Given the description of an element on the screen output the (x, y) to click on. 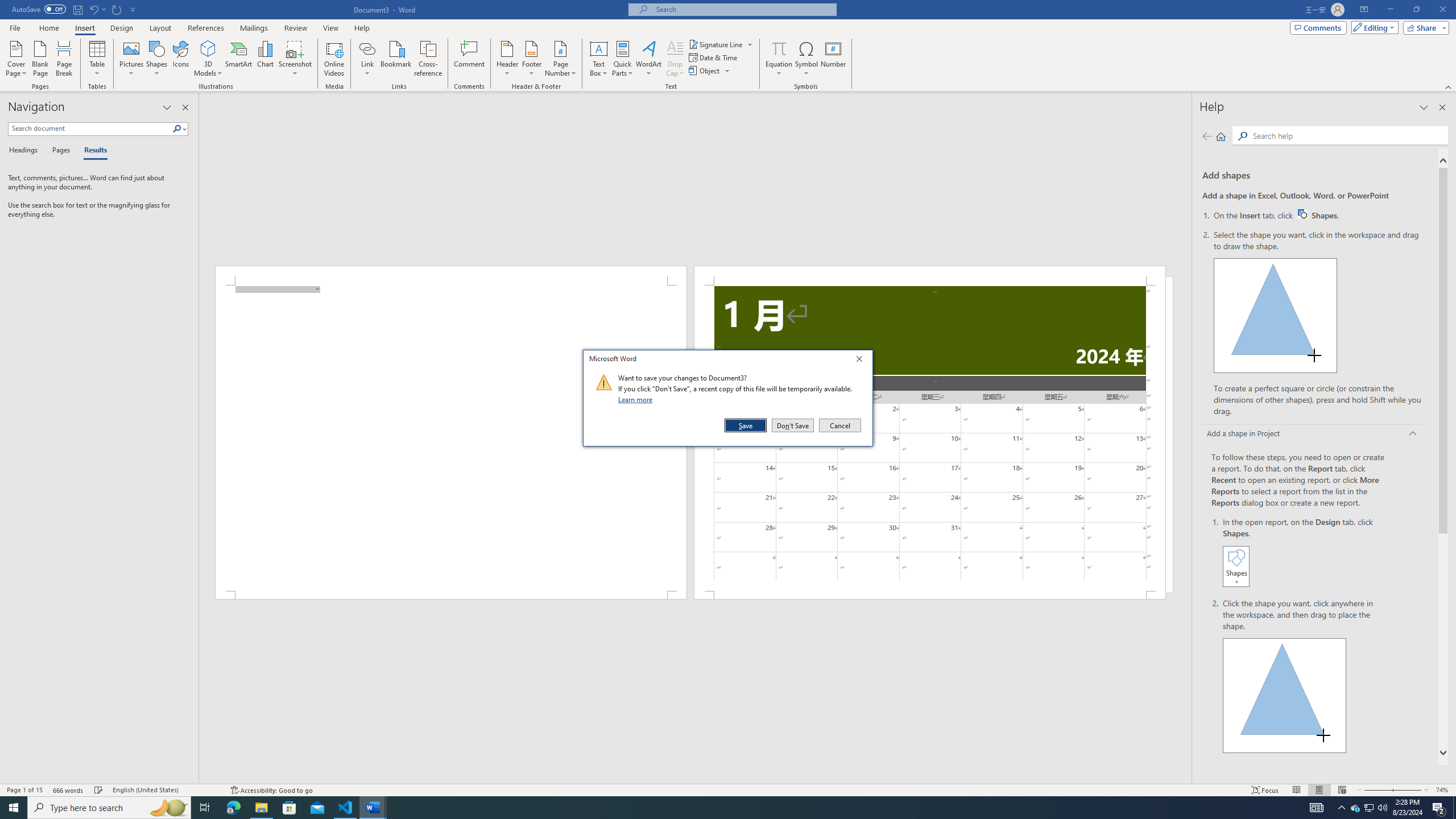
Object... (709, 69)
Signature Line (721, 44)
Comment (469, 58)
Mode (1368, 807)
